Given the description of an element on the screen output the (x, y) to click on. 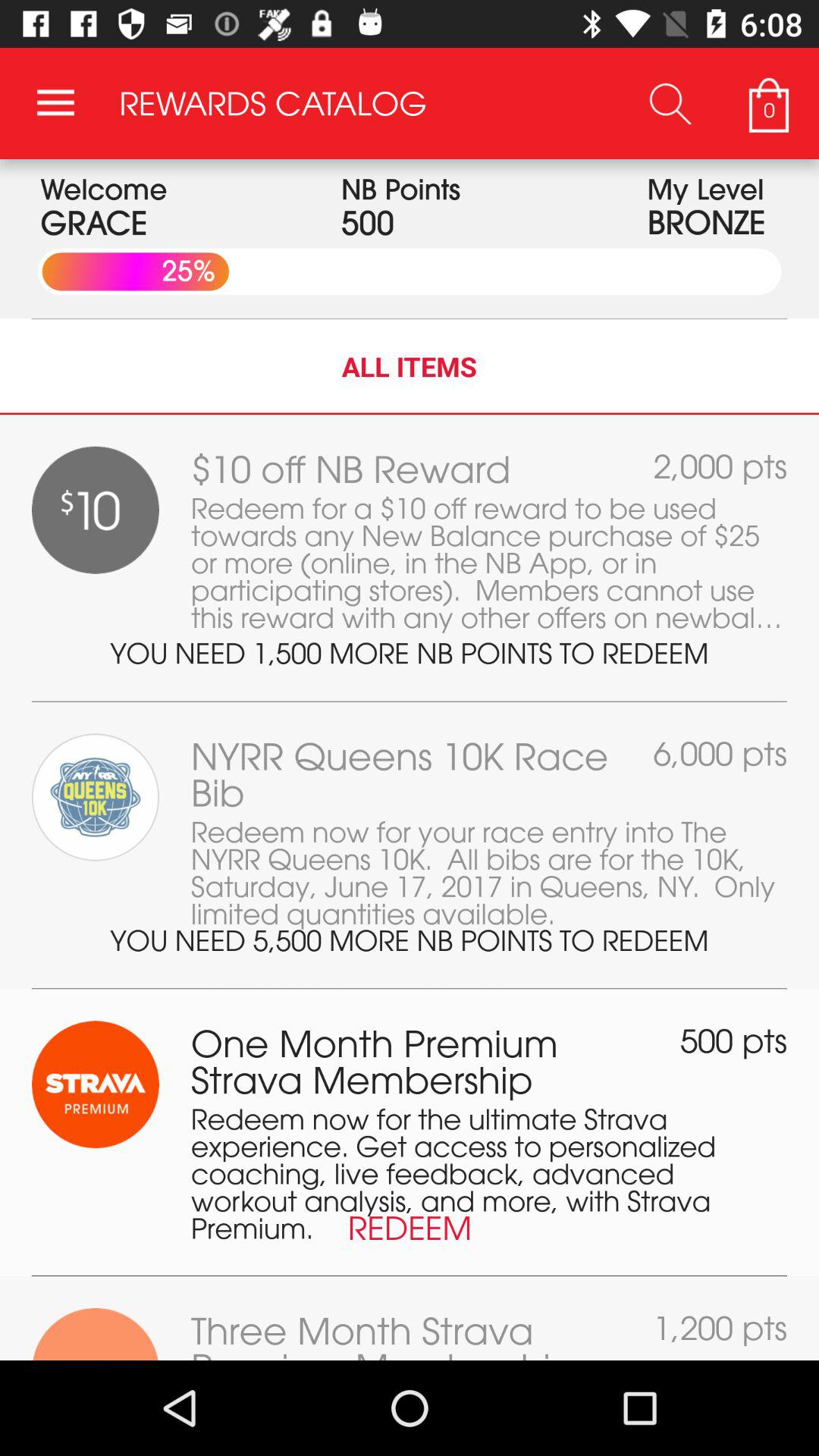
launch item next to the rewards catalog (55, 103)
